Given the description of an element on the screen output the (x, y) to click on. 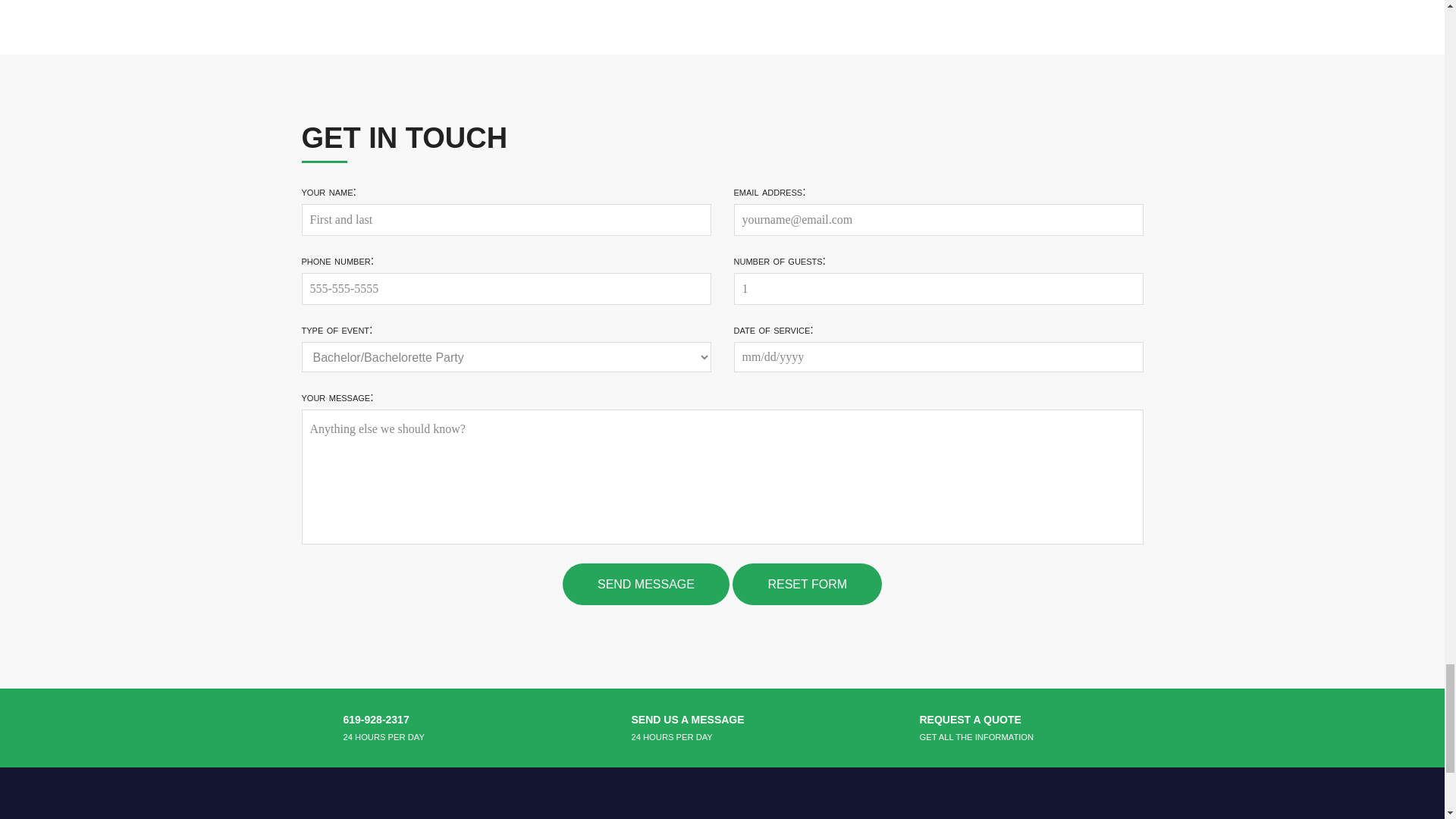
Reset Form (807, 584)
Send Message (645, 584)
Send Message (645, 584)
